Given the description of an element on the screen output the (x, y) to click on. 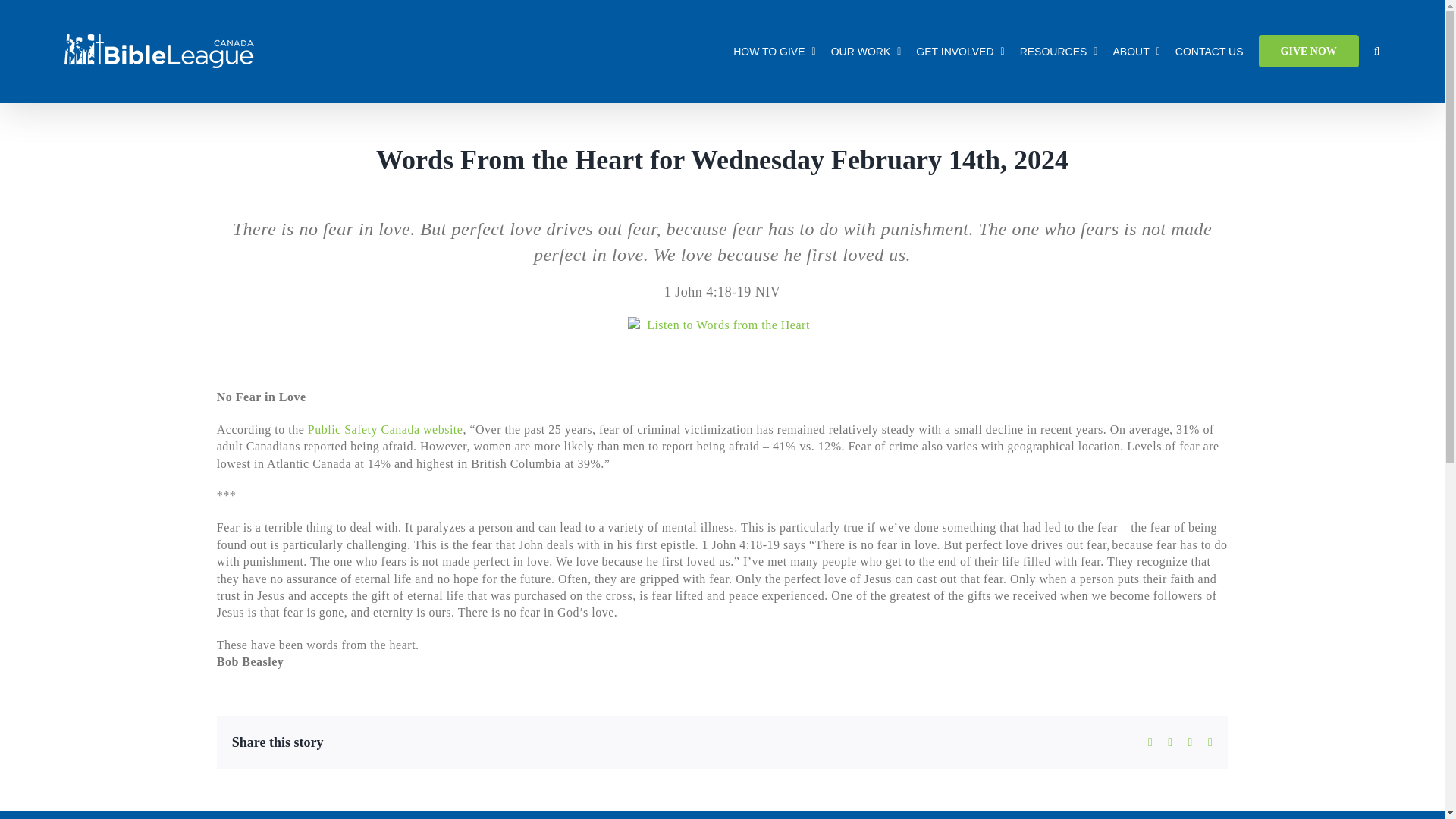
RESOURCES (1058, 50)
GIVE NOW (1308, 50)
HOW TO GIVE (774, 50)
GET INVOLVED (959, 50)
